Given the description of an element on the screen output the (x, y) to click on. 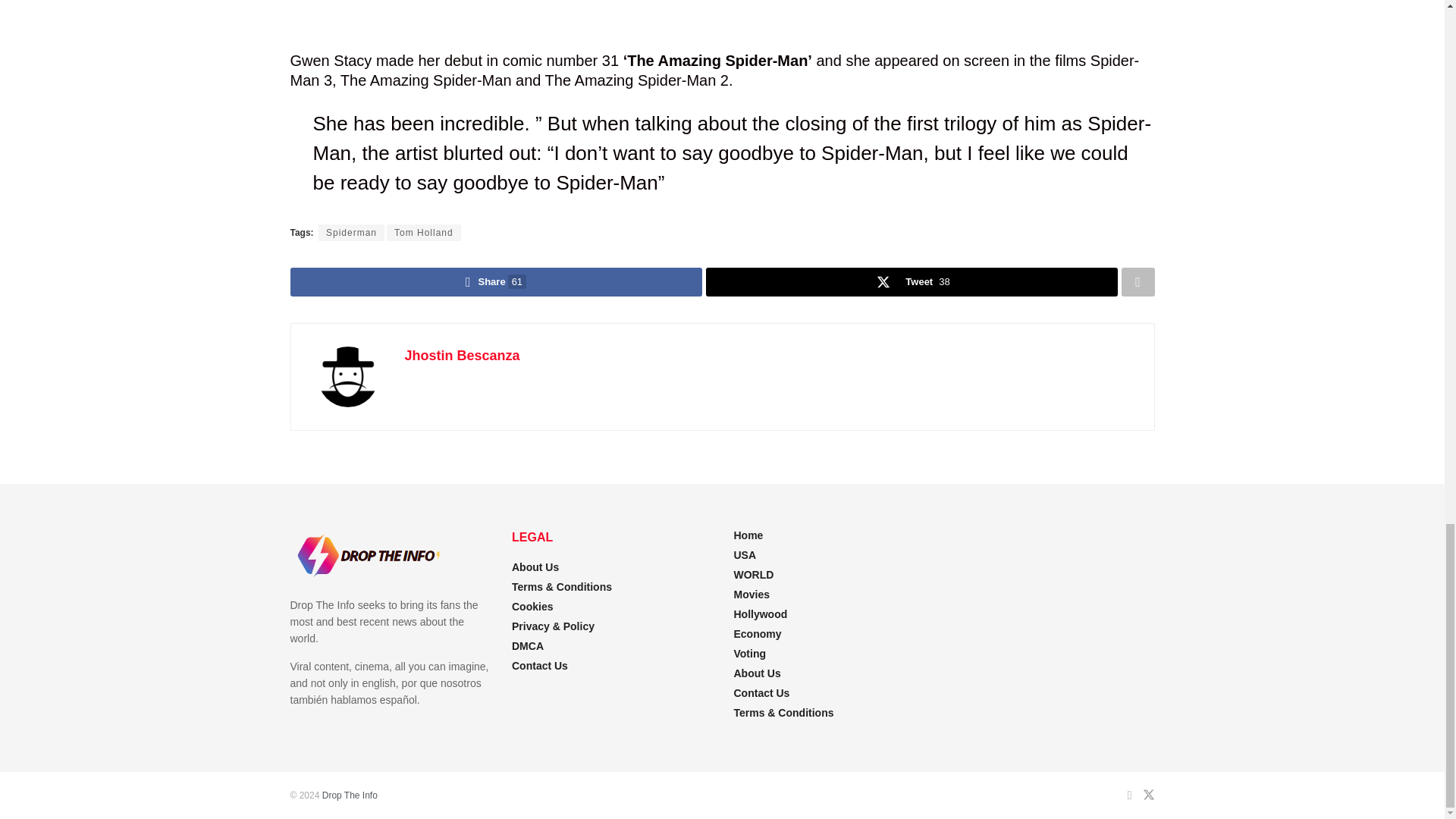
Tom Holland (424, 231)
Share61 (495, 281)
Spiderman (351, 231)
Tweet38 (910, 281)
Drop The Info US NEWS and more (349, 794)
